Given the description of an element on the screen output the (x, y) to click on. 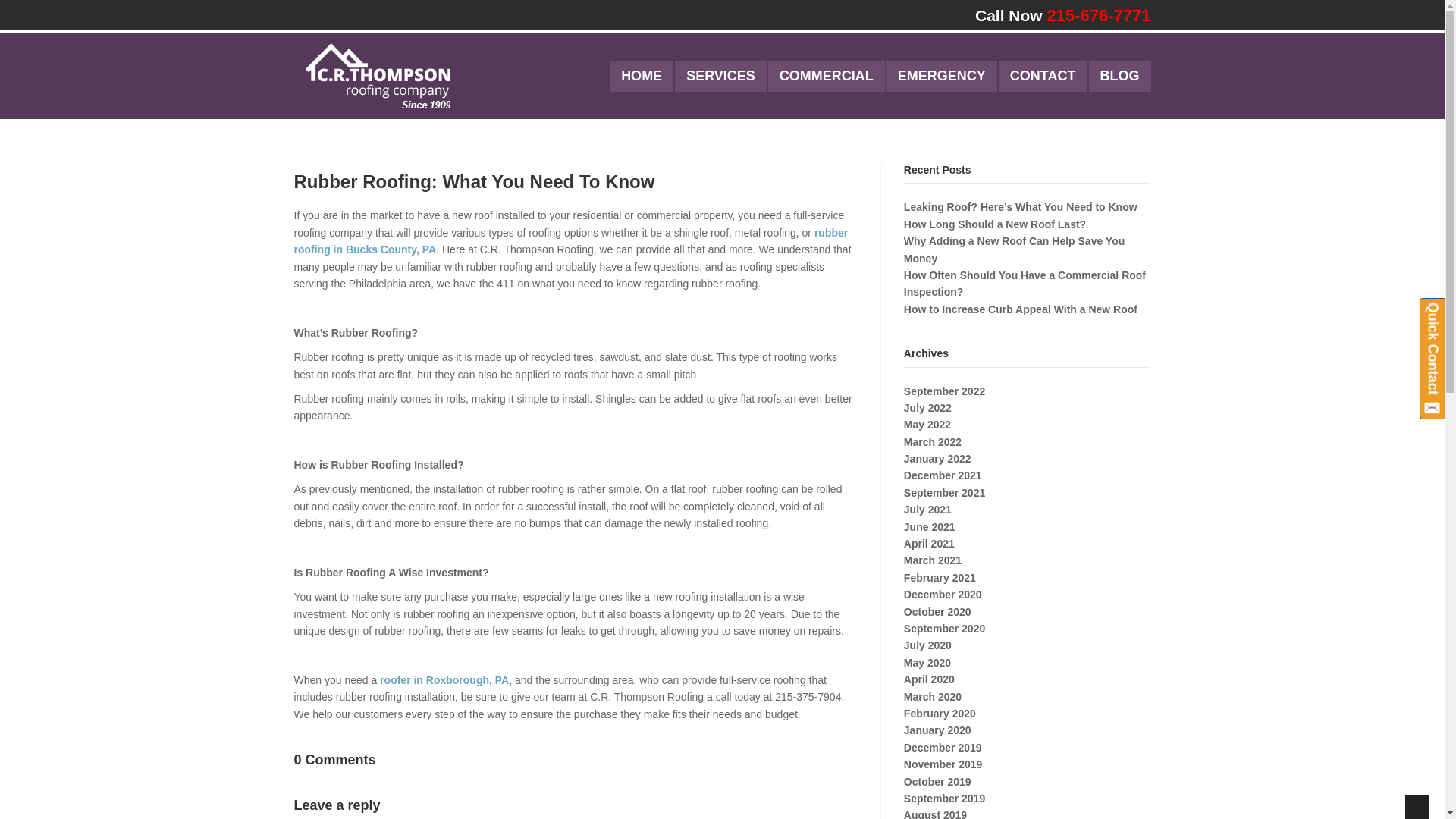
July 2022 (928, 408)
HOME (641, 75)
May 2022 (927, 424)
EMERGENCY (941, 75)
Commercial (826, 75)
SERVICES (721, 75)
January 2022 (937, 458)
January 2020 (937, 729)
April 2020 (929, 679)
February 2020 (939, 713)
September 2022 (944, 390)
roofer in Roxborough, PA (444, 680)
June 2021 (929, 526)
215-676-7771 (1098, 15)
July 2020 (928, 645)
